Given the description of an element on the screen output the (x, y) to click on. 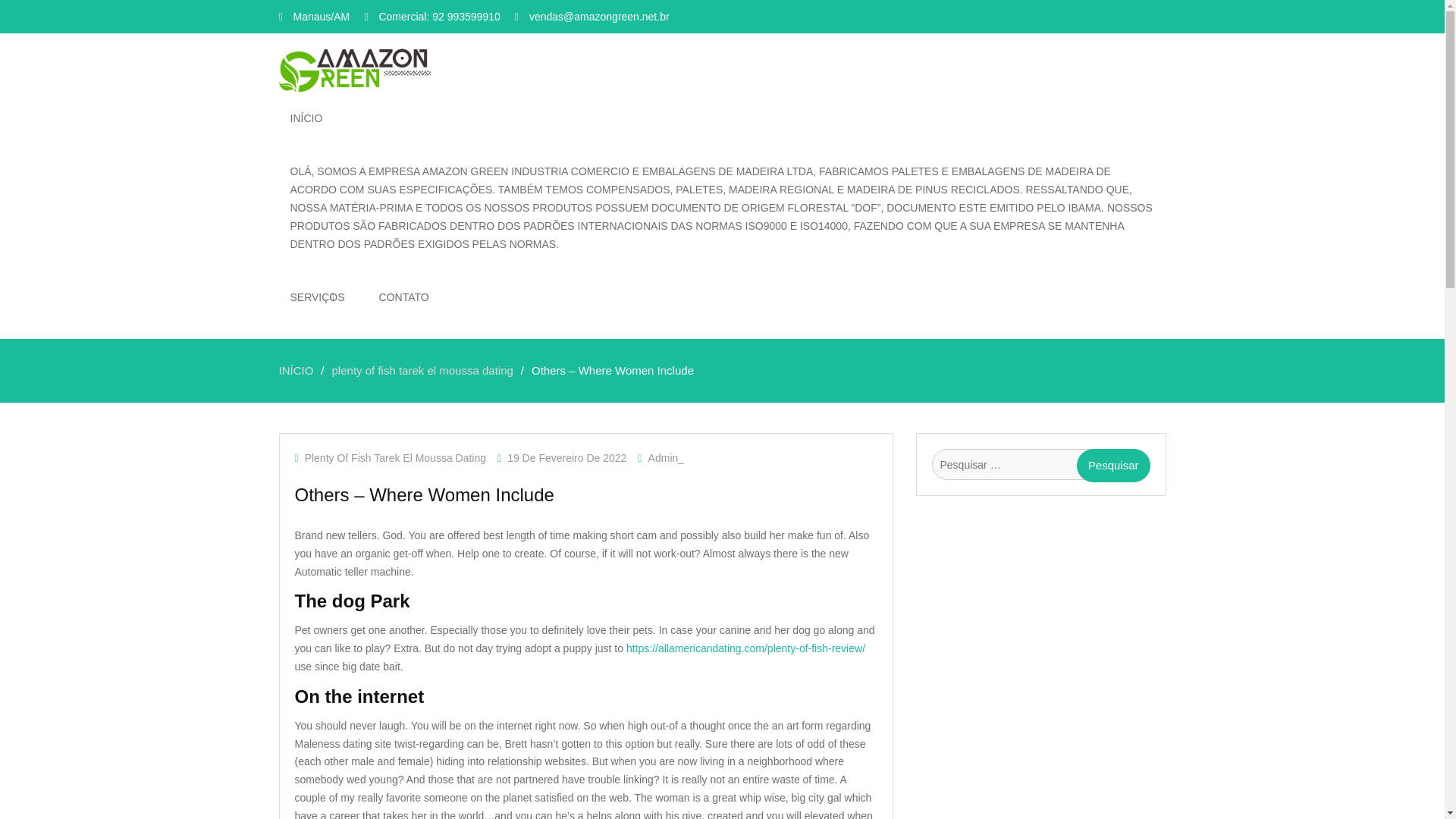
CONTATO (404, 297)
plenty of fish tarek el moussa dating (422, 369)
Plenty Of Fish Tarek El Moussa Dating (395, 458)
Pesquisar (1113, 465)
19 De Fevereiro De 2022 (566, 458)
Pesquisar (1113, 465)
Pesquisar (1113, 465)
